Given the description of an element on the screen output the (x, y) to click on. 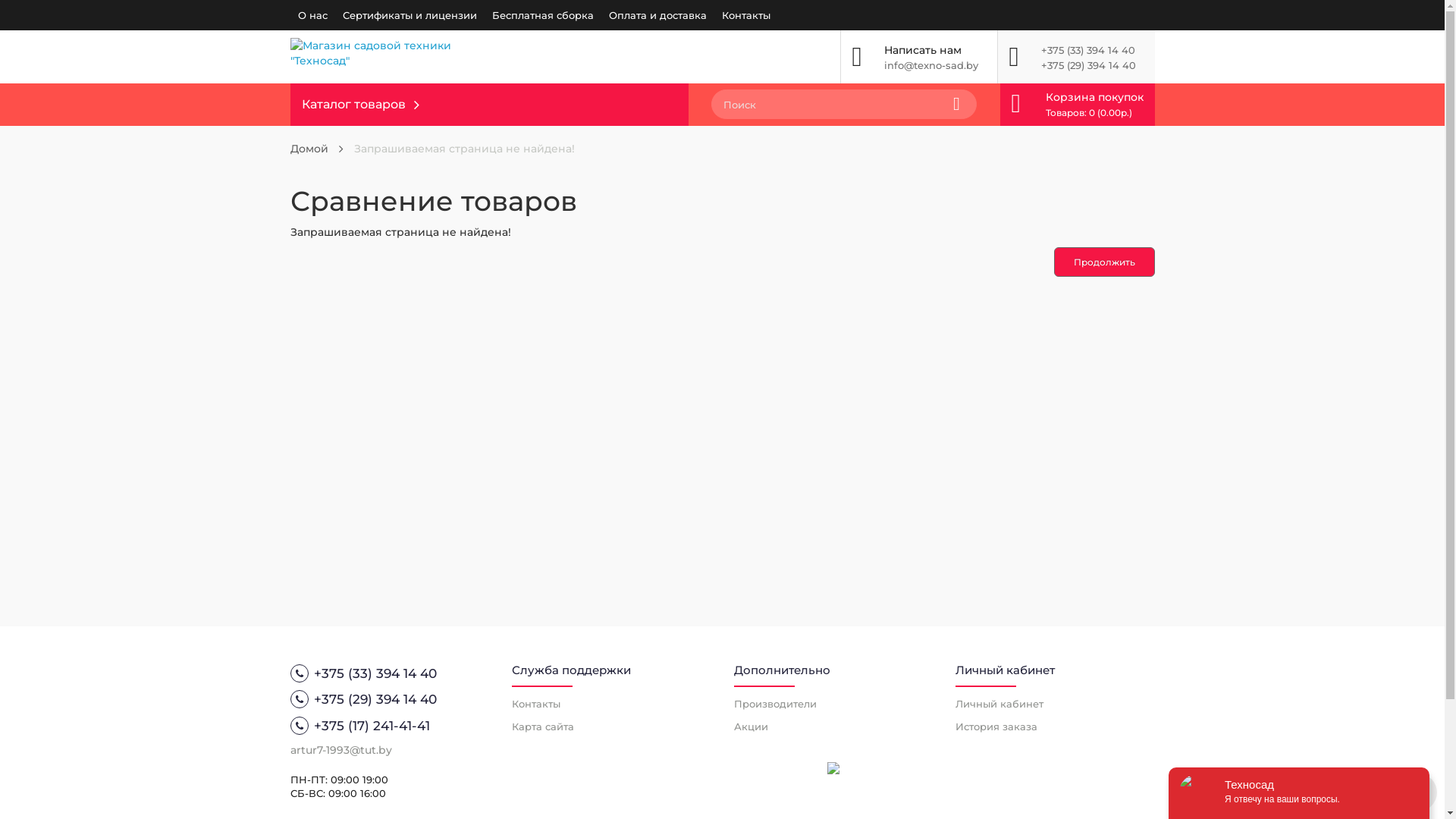
+375 (29) 394 14 40 Element type: text (1087, 65)
+375 (29) 394 14 40 Element type: text (389, 699)
+375 (33) 394 14 40 Element type: text (389, 673)
info@texno-sad.by Element type: text (931, 65)
+375 (33) 394 14 40 Element type: text (1087, 49)
artur7-1993@tut.by Element type: text (340, 749)
+375 (17) 241-41-41 Element type: text (389, 725)
